Given the description of an element on the screen output the (x, y) to click on. 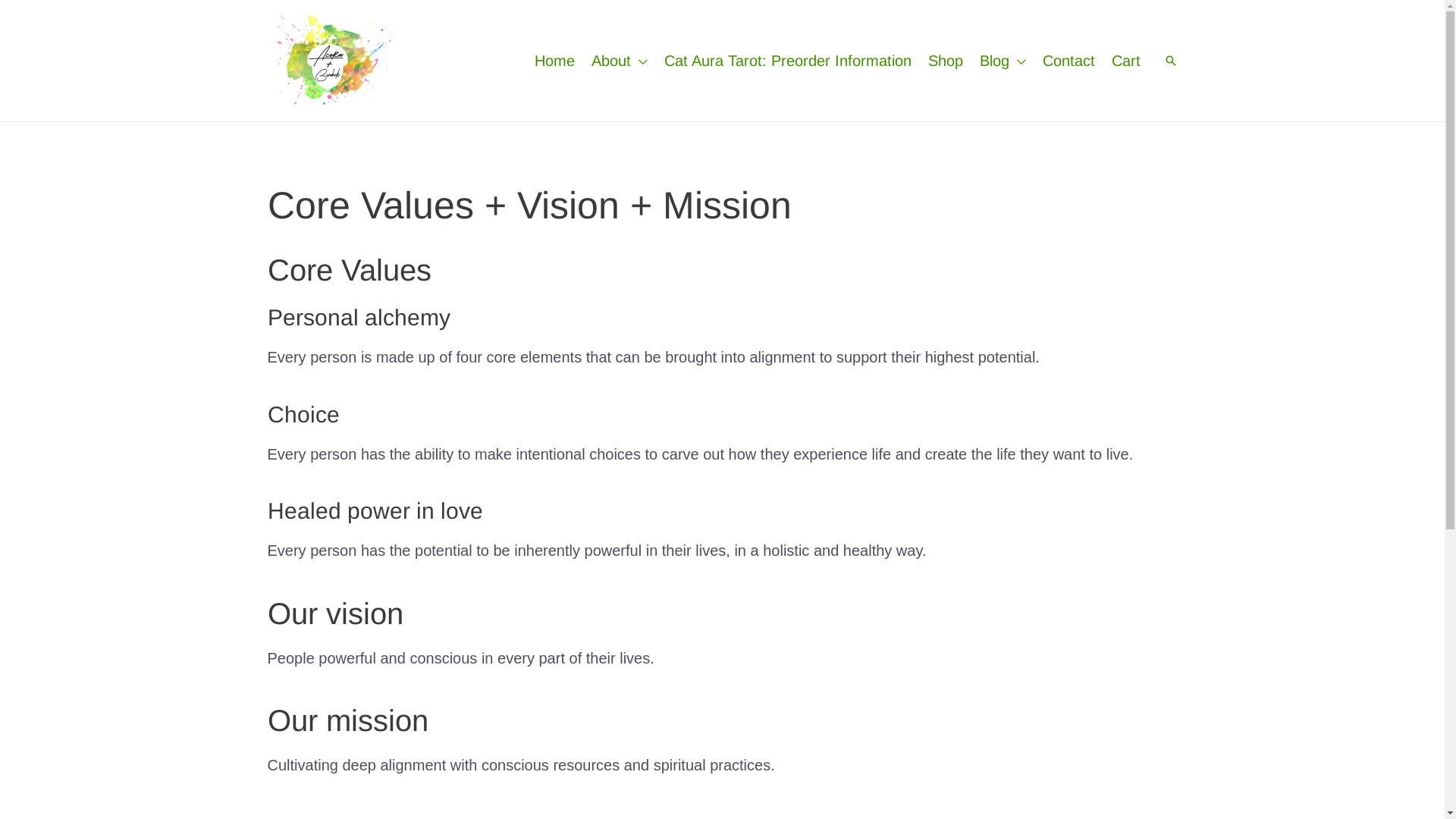
Cart Element type: text (1125, 60)
Contact Element type: text (1068, 60)
Shop Element type: text (944, 60)
Cat Aura Tarot: Preorder Information Element type: text (787, 60)
About Element type: text (618, 60)
Blog Element type: text (1001, 60)
Search Element type: text (1169, 60)
Home Element type: text (554, 60)
